Given the description of an element on the screen output the (x, y) to click on. 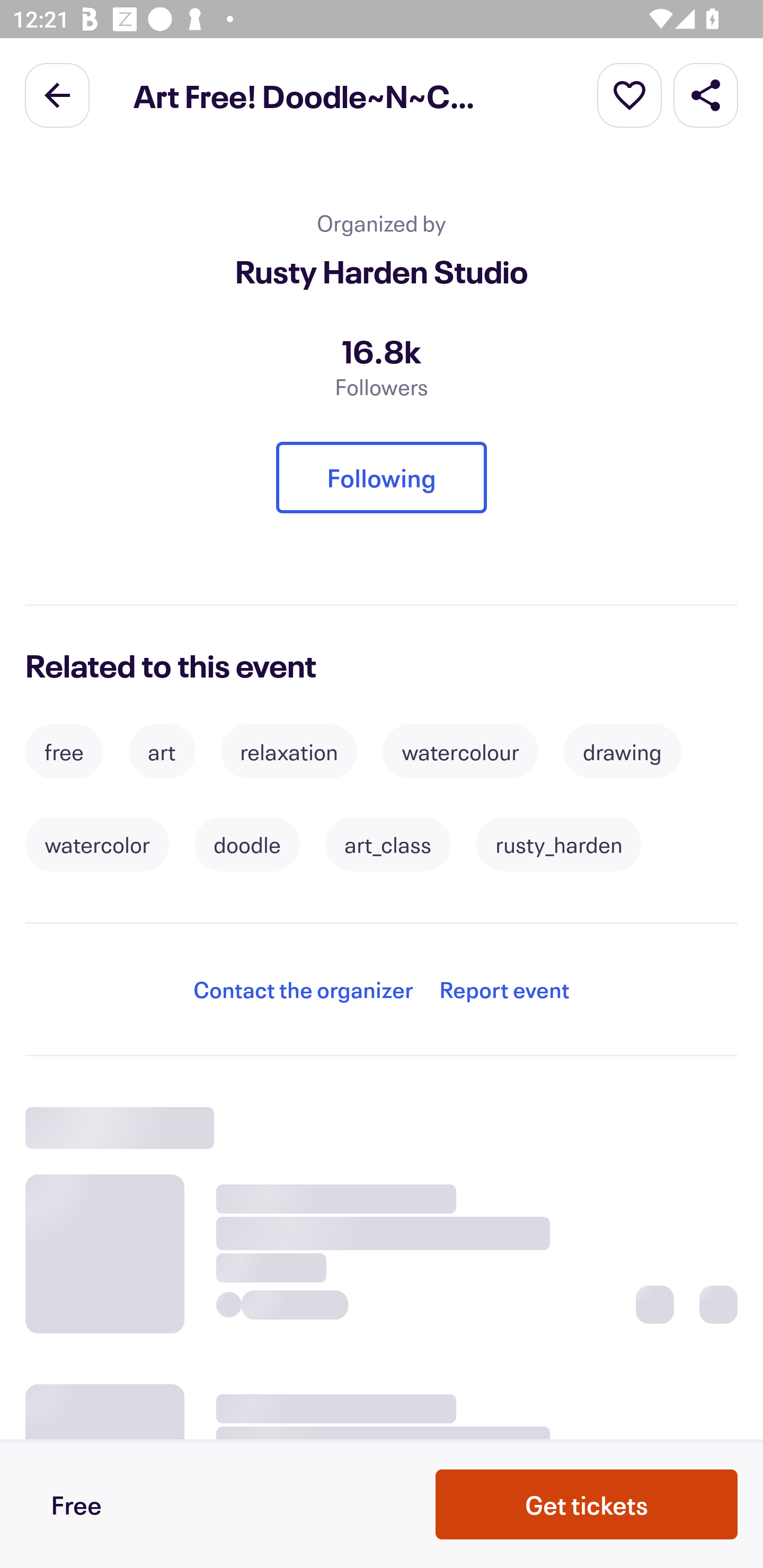
Back (57, 94)
More (629, 94)
Share (705, 94)
Rusty Harden Studio (381, 270)
Following (381, 477)
free (64, 751)
art (161, 751)
relaxation (289, 751)
watercolour (460, 751)
drawing (622, 751)
watercolor (97, 843)
doodle (246, 843)
art_class (387, 843)
rusty_harden (558, 843)
Contact the organizer (303, 989)
Report event (504, 989)
Get tickets (586, 1504)
